Given the description of an element on the screen output the (x, y) to click on. 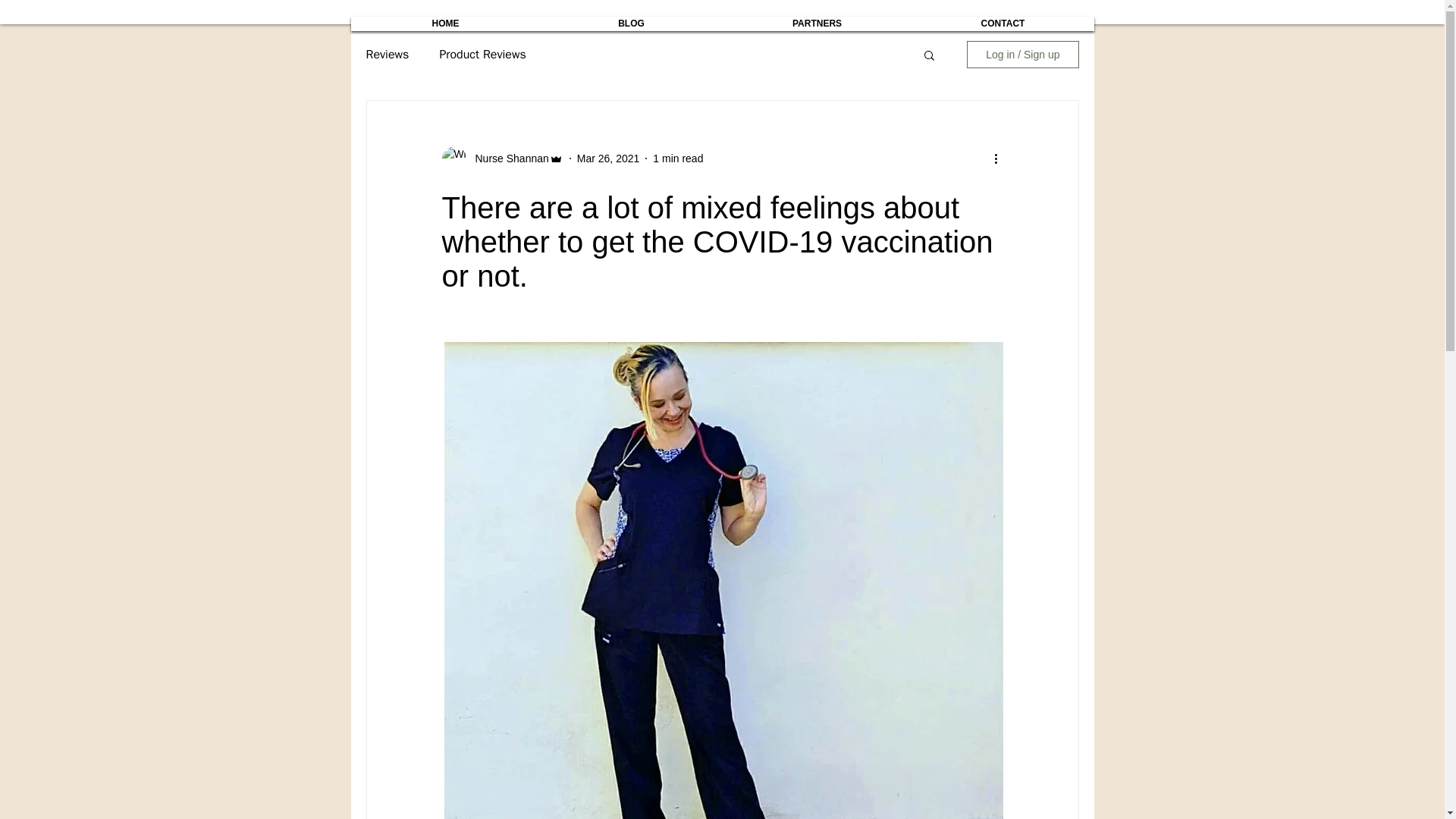
BLOG (631, 23)
PARTNERS (817, 23)
Product Reviews (482, 54)
Mar 26, 2021 (608, 157)
CONTACT (1002, 23)
Nurse Shannan (506, 157)
Reviews (387, 54)
1 min read (677, 157)
HOME (446, 23)
